Given the description of an element on the screen output the (x, y) to click on. 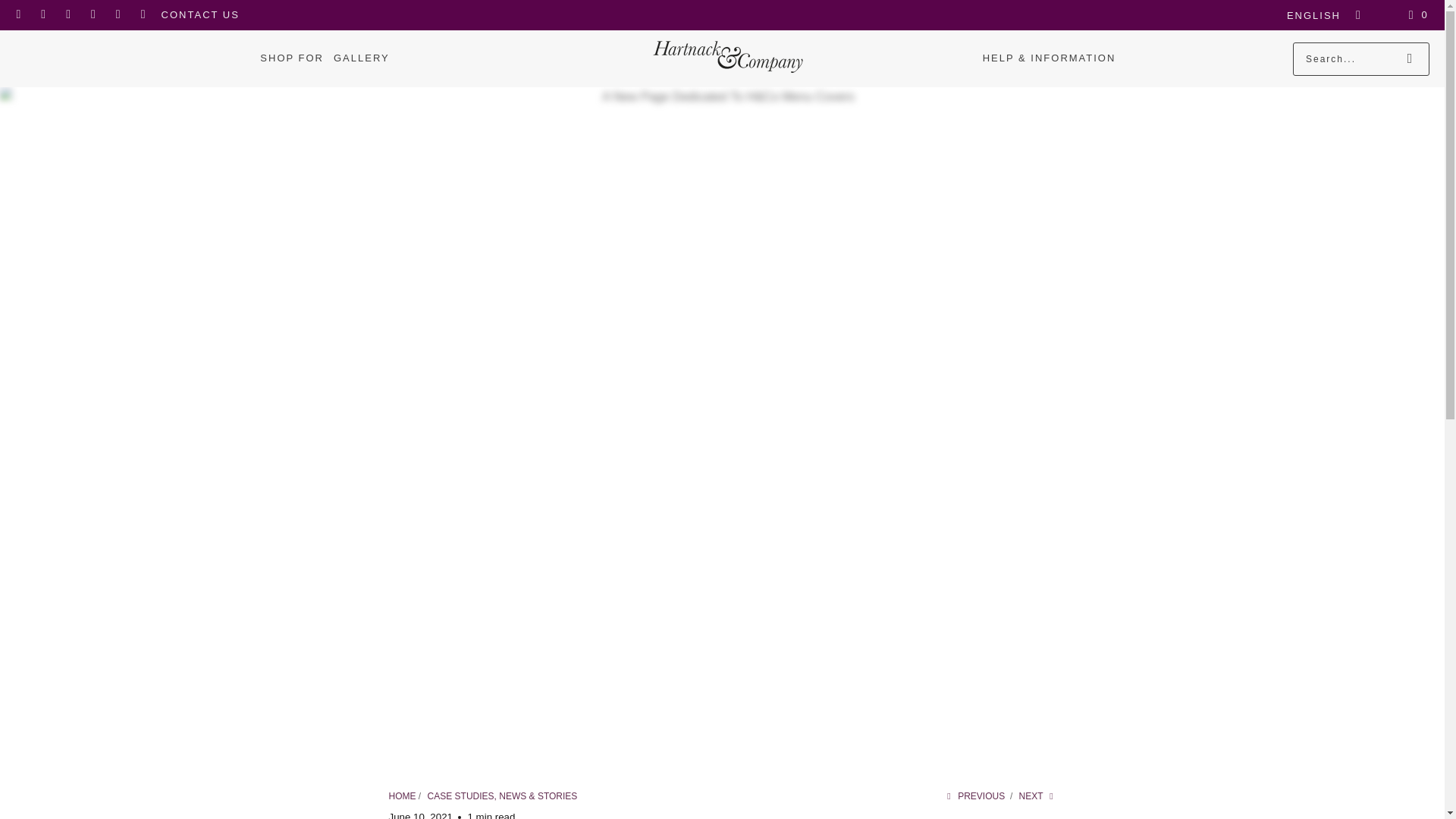
GALLERY (361, 58)
SHOP FOR (291, 58)
ENGLISH (1320, 15)
CONTACT US (200, 14)
